Given the description of an element on the screen output the (x, y) to click on. 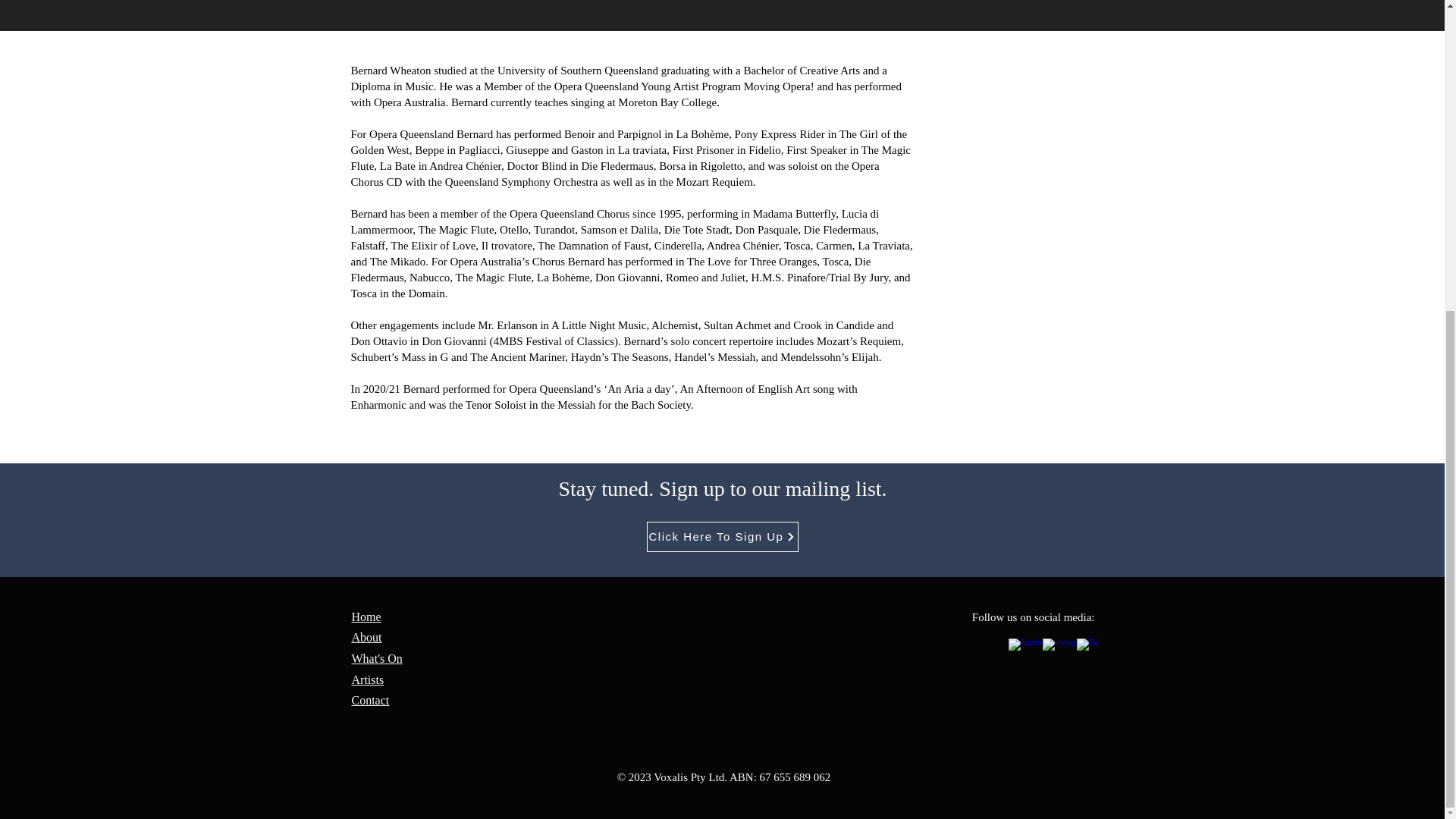
Click Here To Sign Up (721, 536)
Artists (368, 679)
Home (366, 616)
About (366, 636)
Contact (371, 699)
What's On (377, 658)
